Given the description of an element on the screen output the (x, y) to click on. 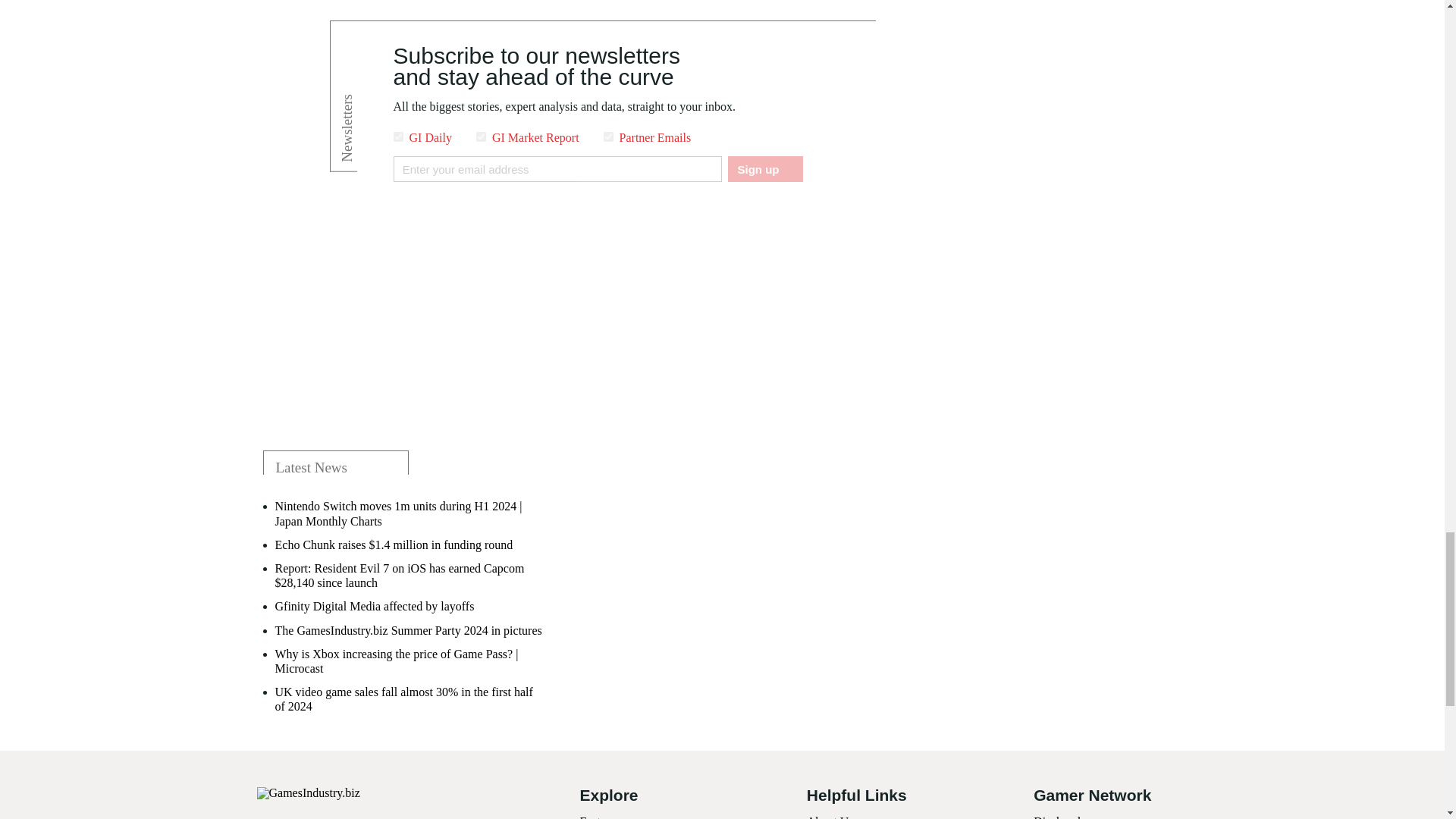
About Us (829, 816)
on (398, 136)
on (481, 136)
Gfinity Digital Media affected by layoffs (374, 605)
Features (599, 816)
The GamesIndustry.biz Summer Party 2024 in pictures (408, 630)
on (608, 136)
Sign up (765, 168)
